Given the description of an element on the screen output the (x, y) to click on. 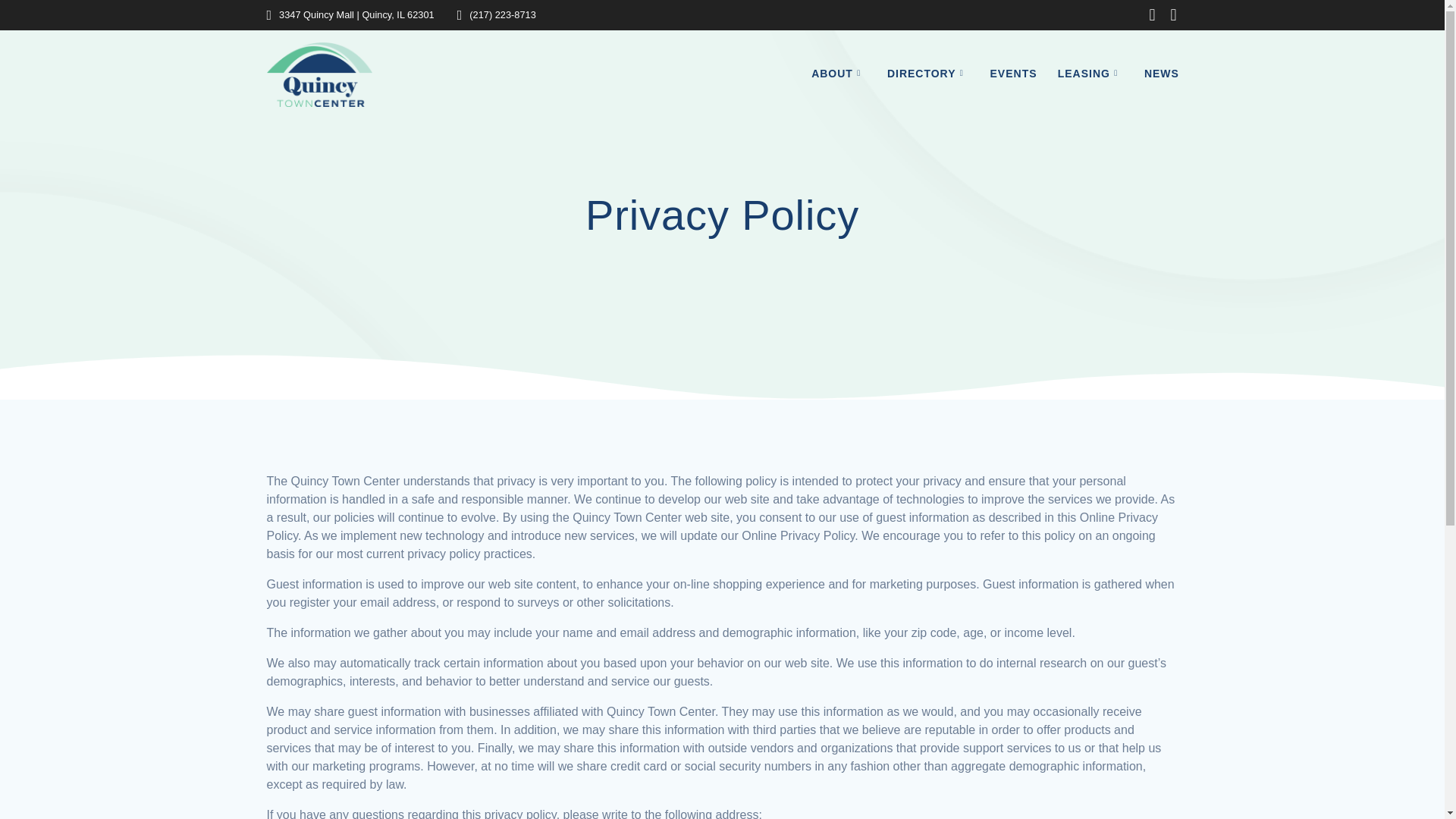
ABOUT (838, 74)
EVENTS (1013, 74)
NEWS (1161, 74)
LEASING (1091, 74)
DIRECTORY (927, 74)
